Given the description of an element on the screen output the (x, y) to click on. 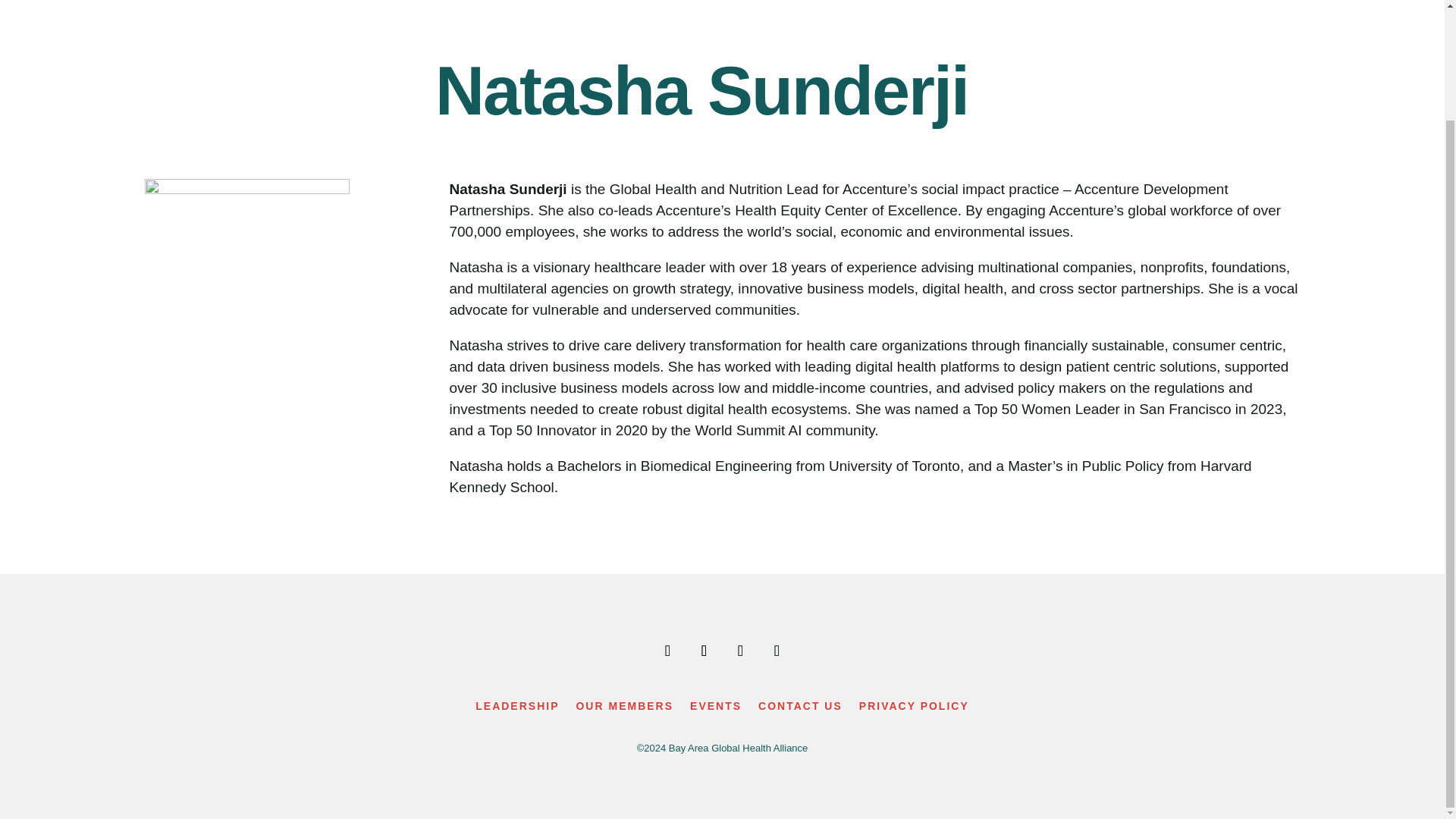
CONTACT US (800, 709)
Follow on LinkedIn (740, 650)
20-NatashaSunderji (246, 281)
Follow on Facebook (667, 650)
PRIVACY POLICY (914, 709)
LEADERSHIP (517, 709)
Follow on X (776, 650)
OUR MEMBERS (623, 709)
Follow on Youtube (703, 650)
EVENTS (715, 709)
